Given the description of an element on the screen output the (x, y) to click on. 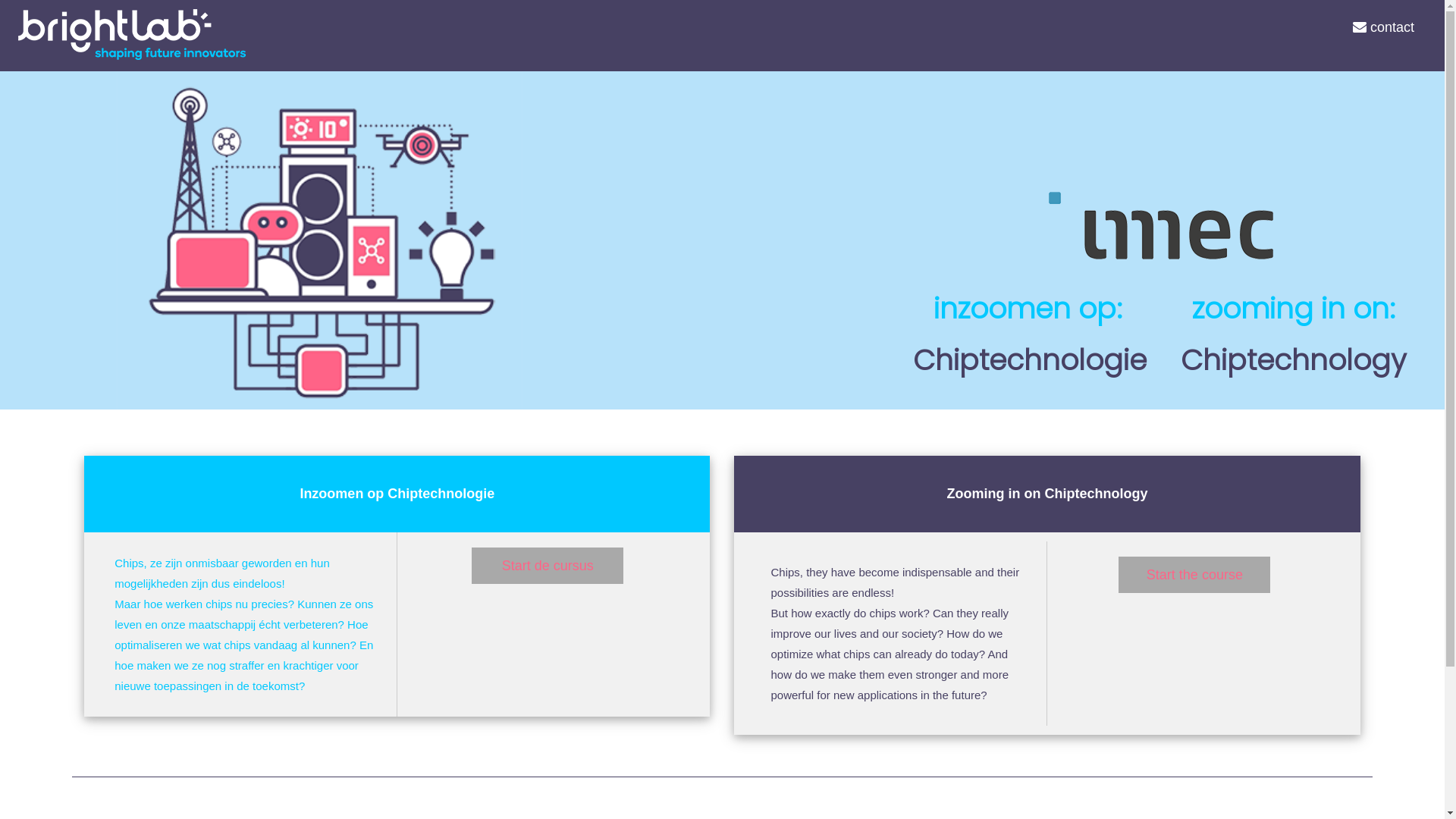
contact Element type: text (1383, 27)
Start the course Element type: text (1194, 574)
Start de cursus Element type: text (547, 565)
